Given the description of an element on the screen output the (x, y) to click on. 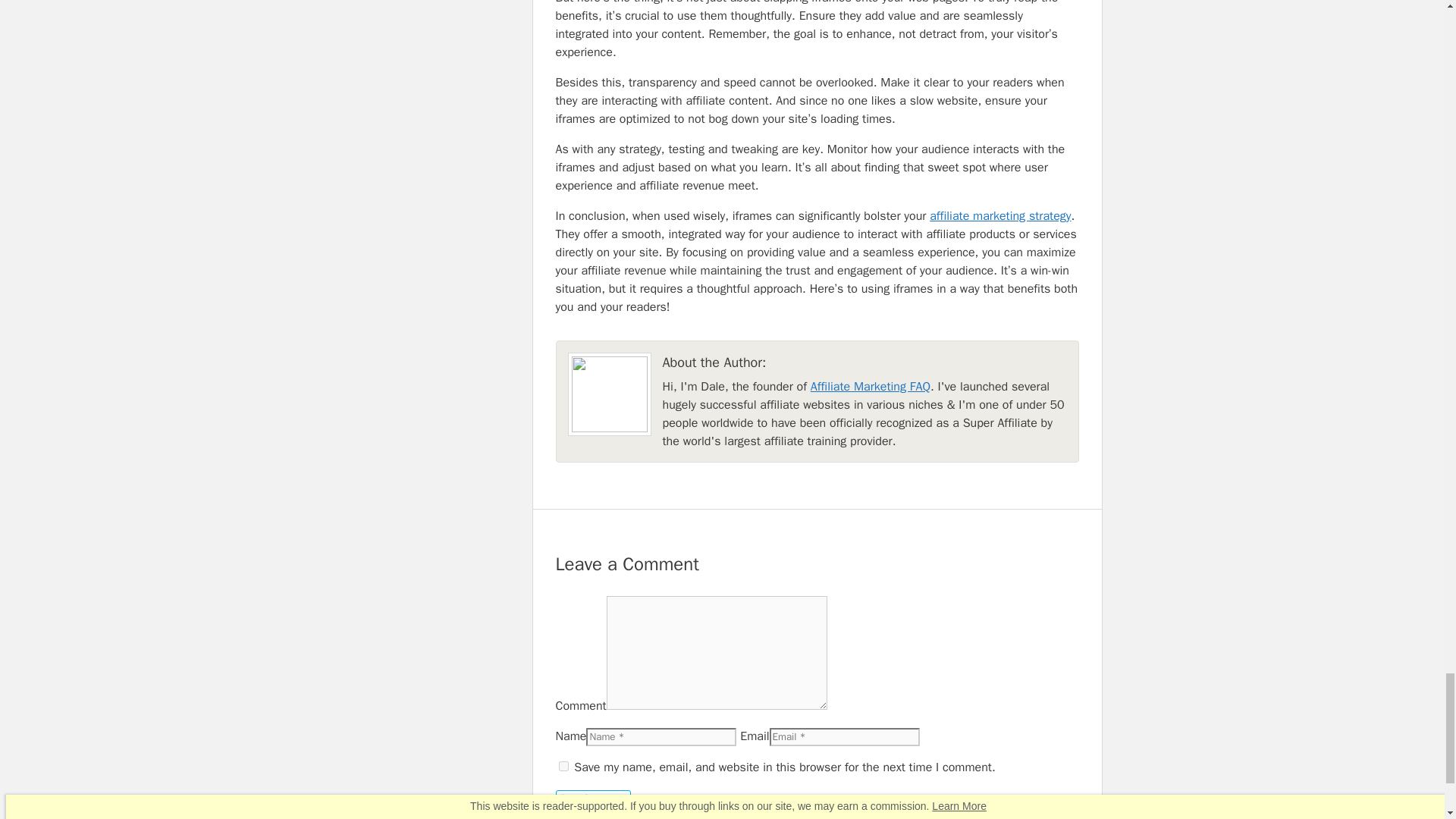
Post Comment (592, 798)
Affiliate Marketing FAQ (870, 386)
yes (562, 766)
Post Comment (592, 798)
affiliate marketing strategy (1000, 215)
